Given the description of an element on the screen output the (x, y) to click on. 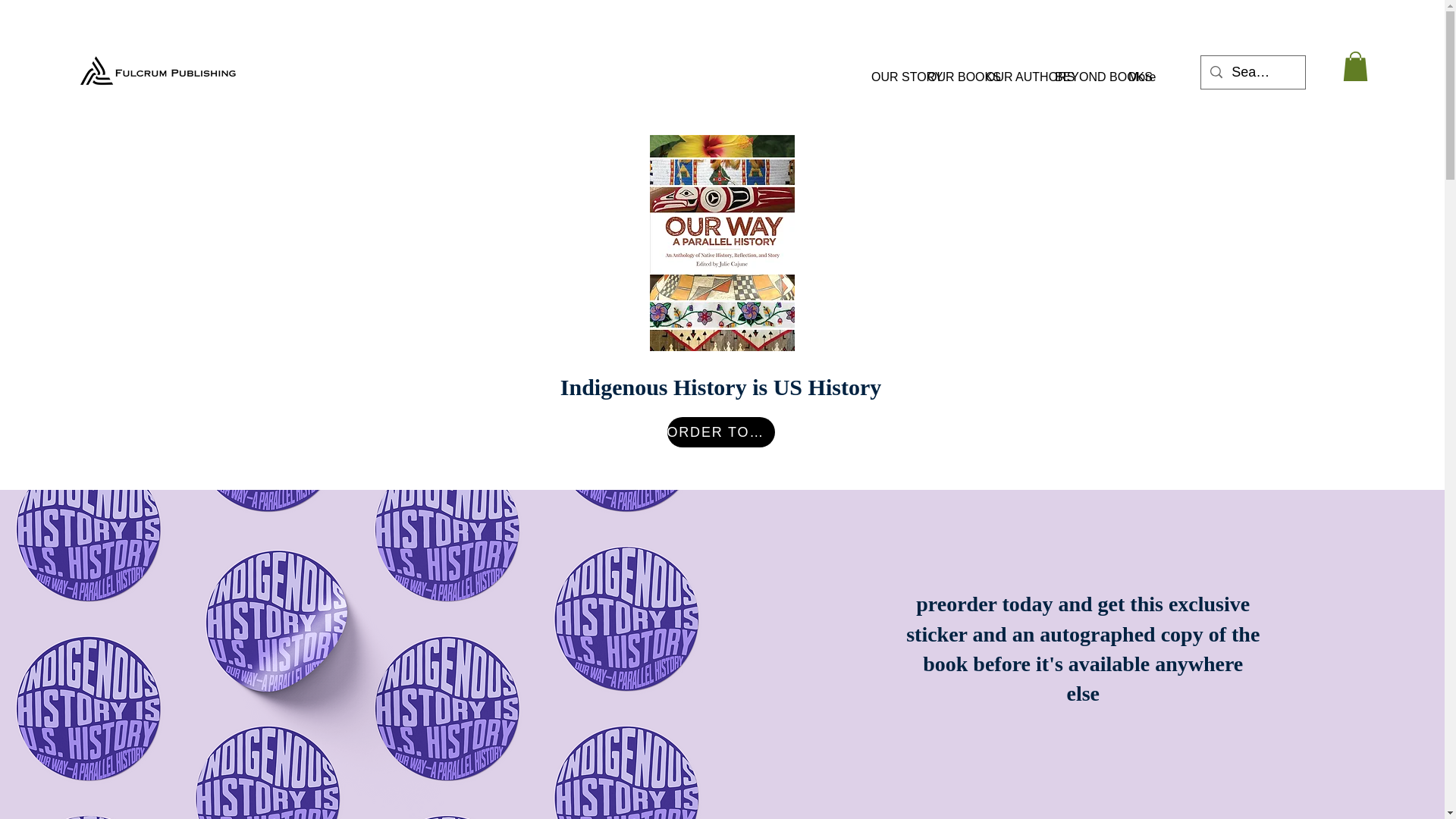
ORDER TODAY (720, 431)
OUR AUTHORS (1013, 70)
OUR BOOKS (950, 70)
BEYOND BOOKS (1085, 70)
OUR STORY (892, 70)
